Given the description of an element on the screen output the (x, y) to click on. 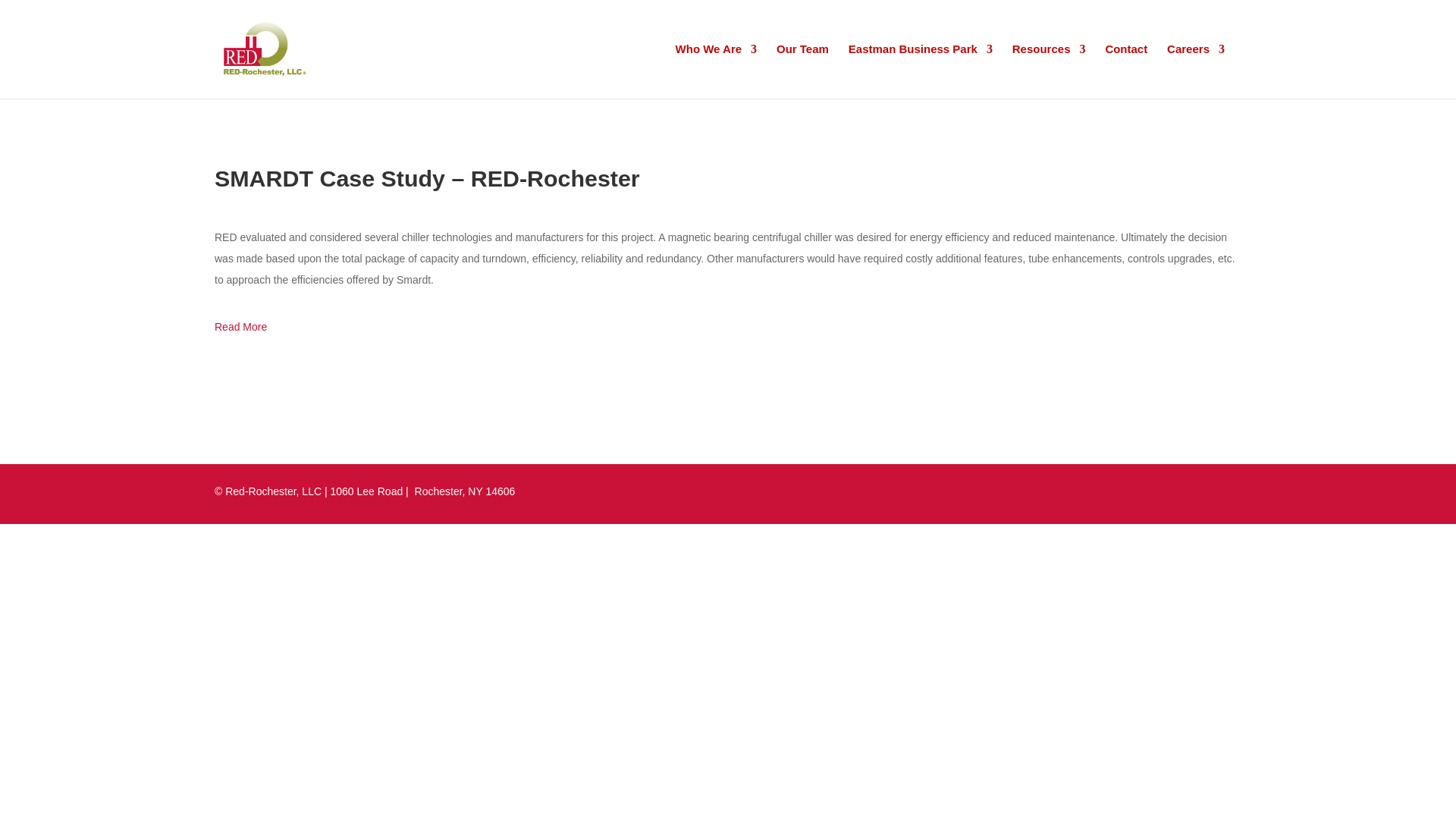
Our Team (802, 71)
Resources (1048, 71)
Careers (1195, 71)
Who We Are (716, 71)
Eastman Business Park (920, 71)
Contact (1126, 71)
